Given the description of an element on the screen output the (x, y) to click on. 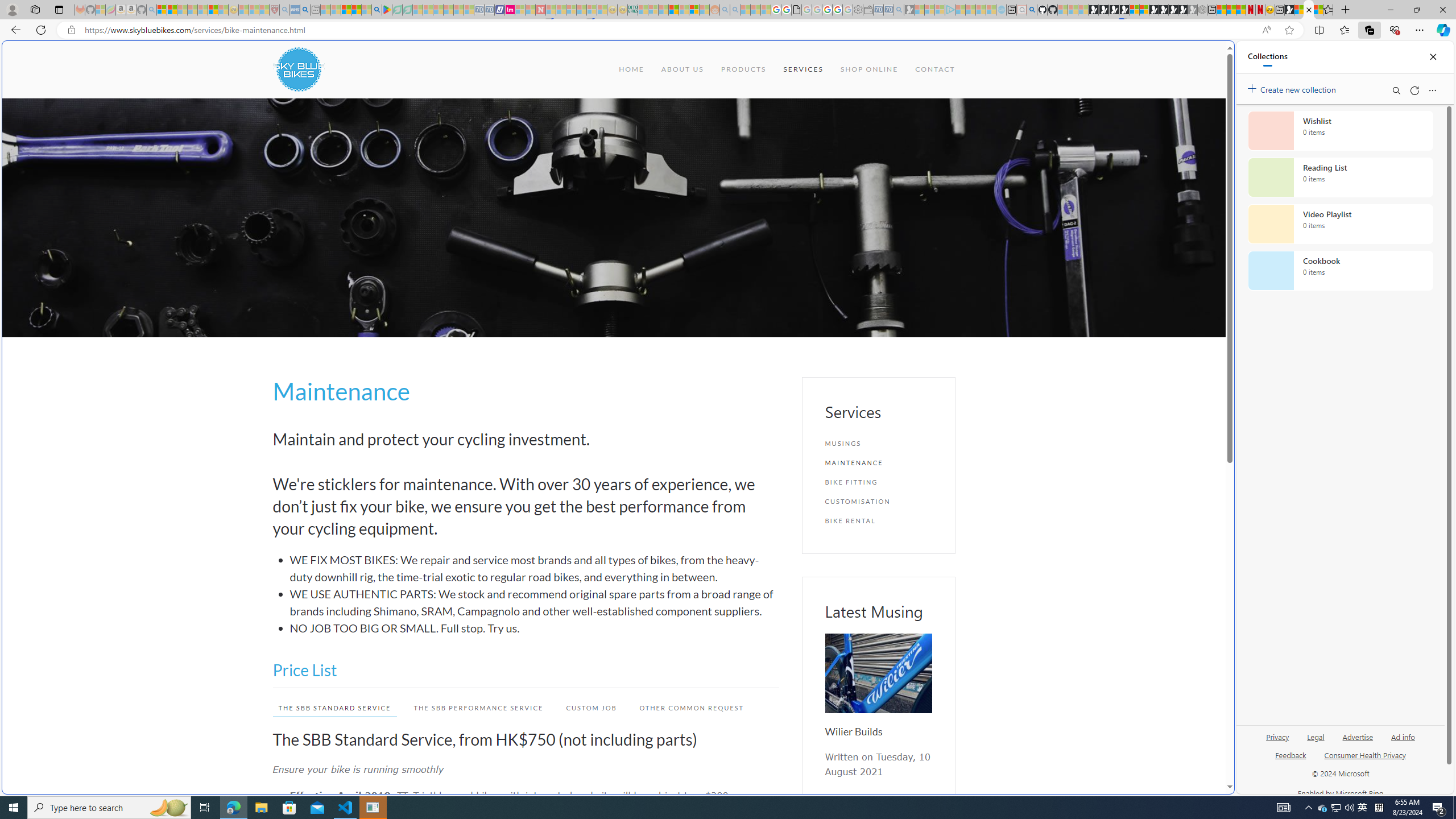
OTHER COMMON REQUEST (691, 707)
Search or enter web address (922, 108)
BIKE RENTAL (878, 520)
